Given the description of an element on the screen output the (x, y) to click on. 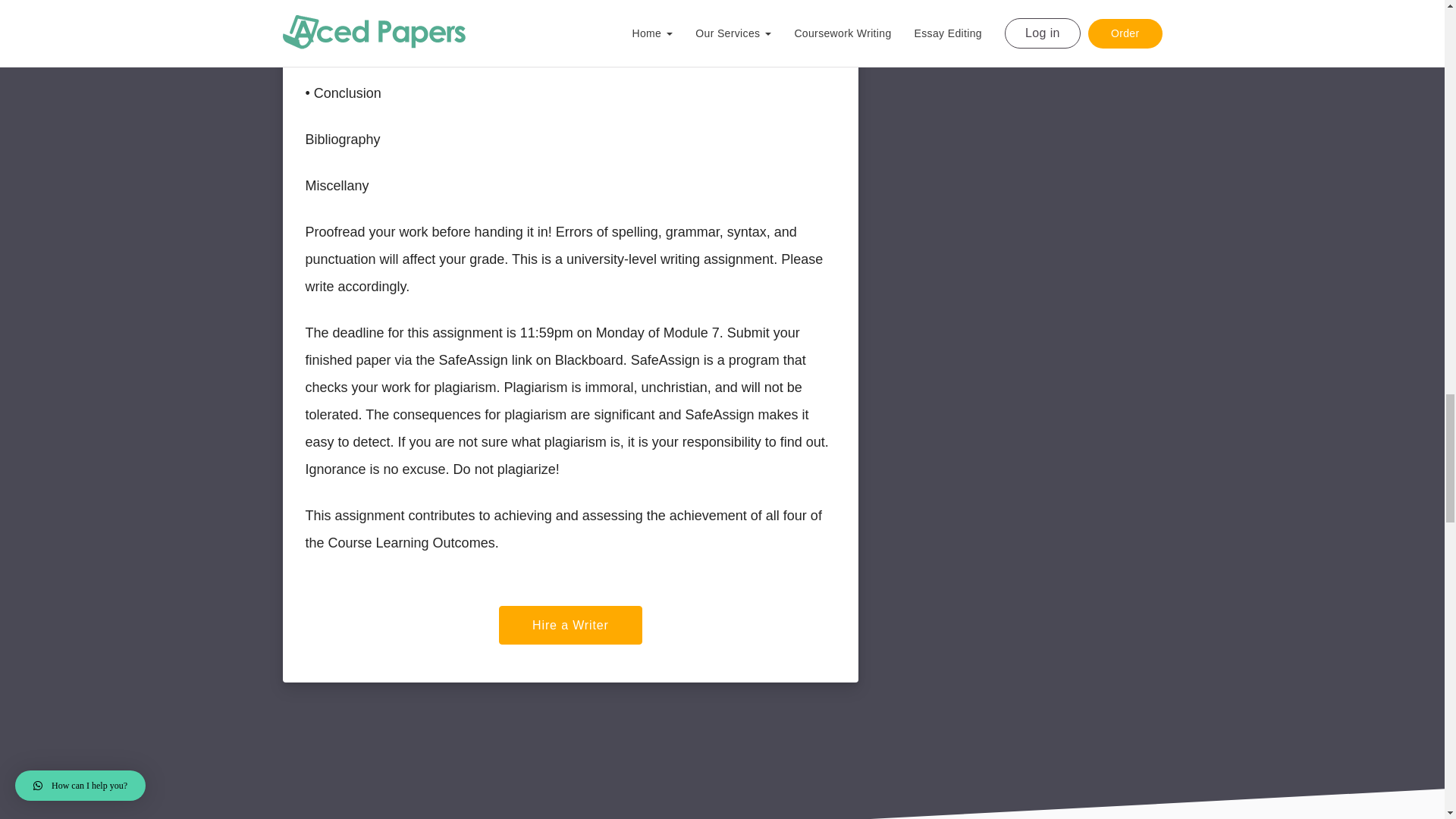
Hire a Writer (570, 625)
